Given the description of an element on the screen output the (x, y) to click on. 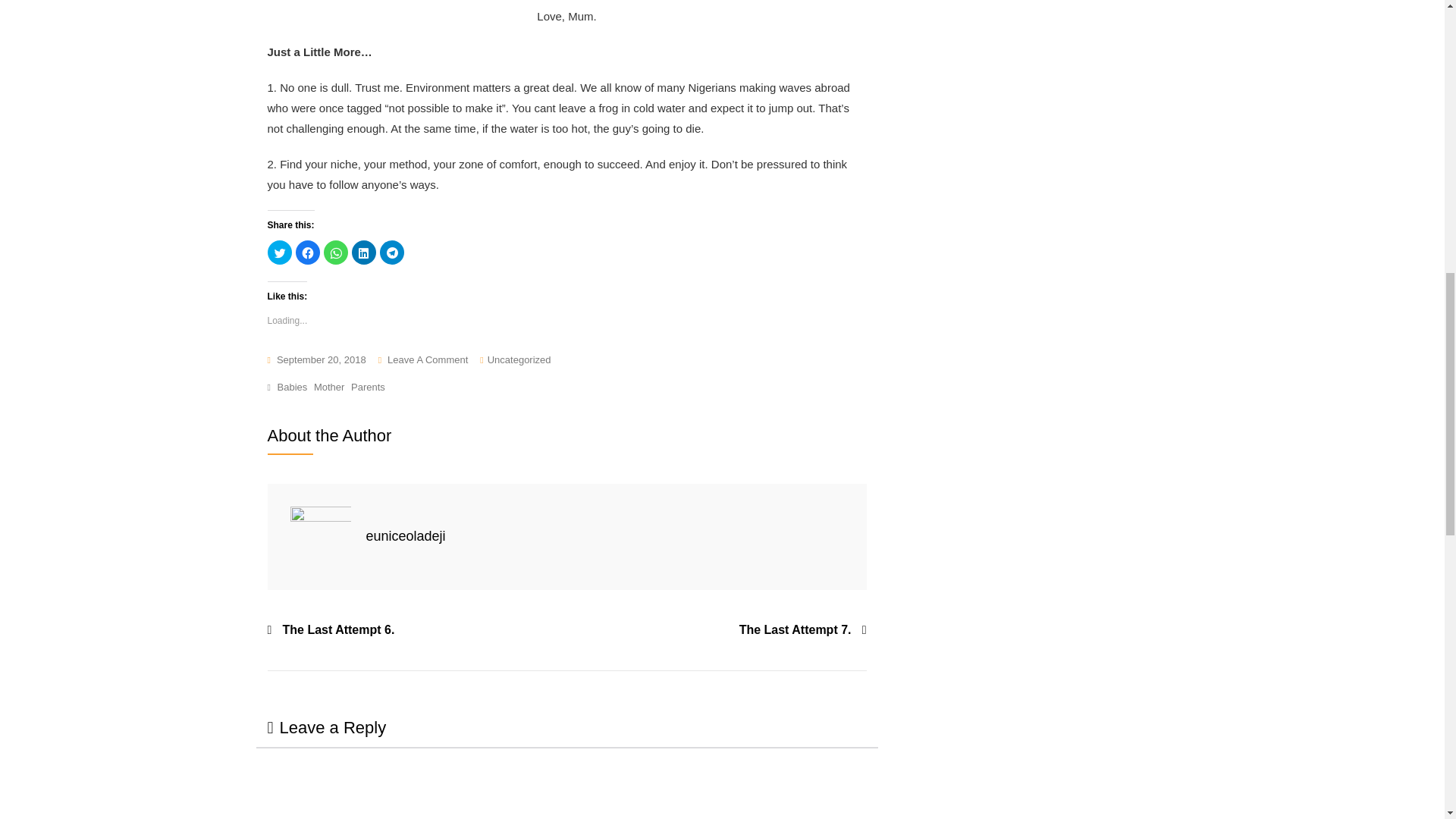
Click to share on Telegram (390, 252)
Click to share on LinkedIn (363, 252)
Click to share on Twitter (278, 252)
Click to share on Facebook (307, 252)
September 20, 2018 (315, 360)
Comment Form (566, 782)
Click to share on WhatsApp (335, 252)
